Given the description of an element on the screen output the (x, y) to click on. 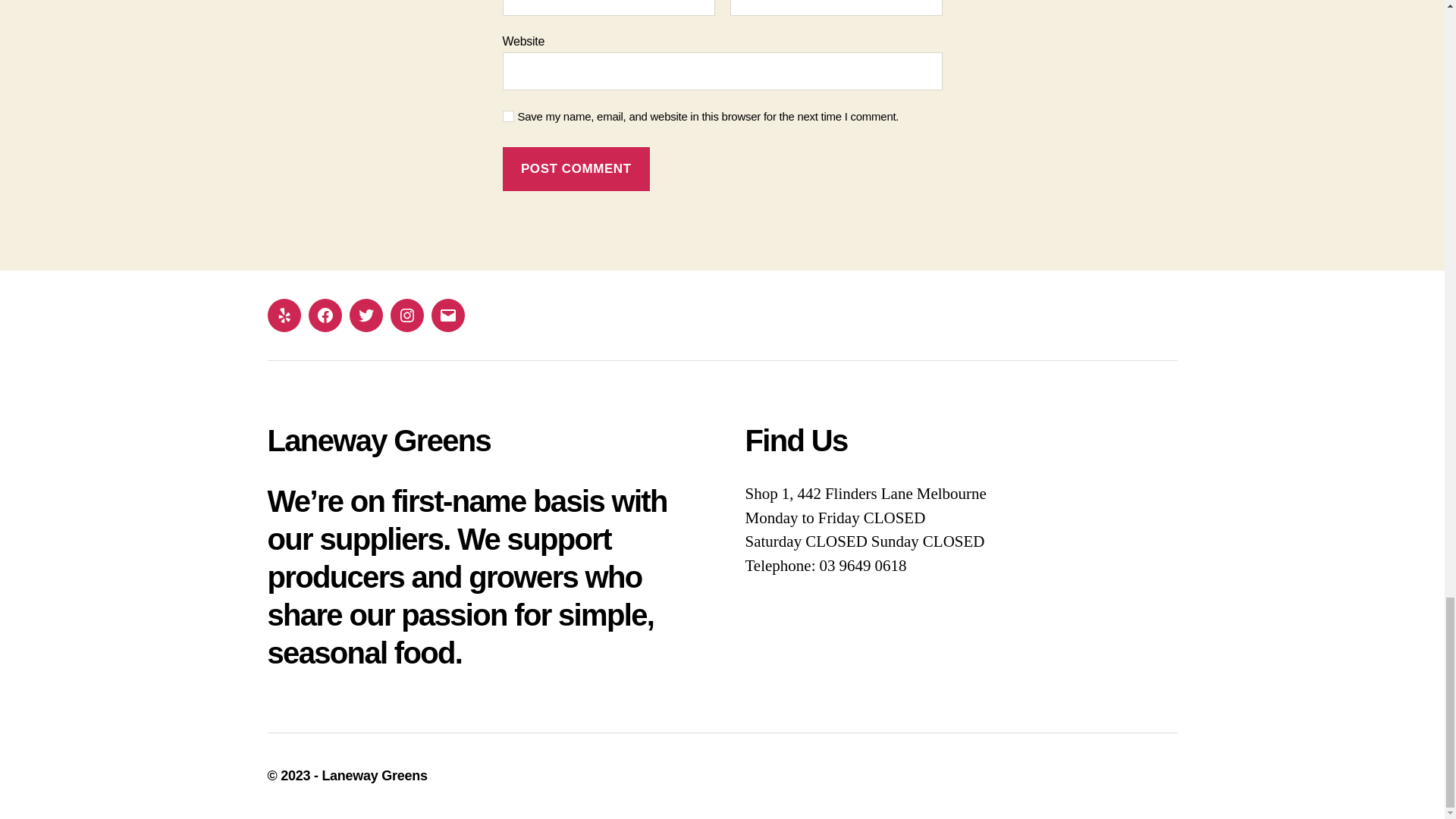
Post Comment (575, 169)
Instagram (406, 315)
Post Comment (575, 169)
Email (447, 315)
Yelp (282, 315)
Laneway Greens (373, 775)
yes (507, 116)
Twitter (365, 315)
Facebook (323, 315)
